Given the description of an element on the screen output the (x, y) to click on. 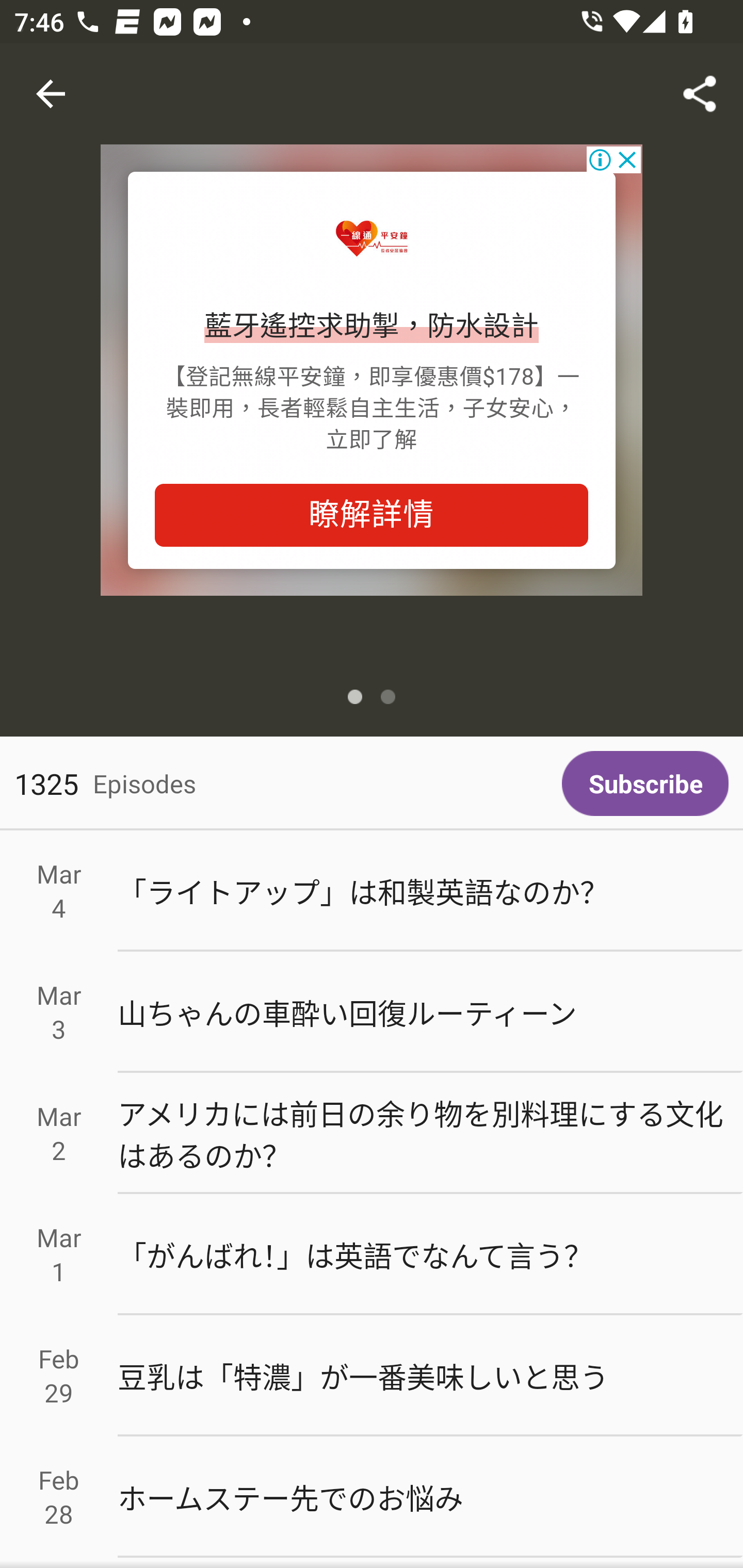
Navigate up (50, 93)
Share... (699, 93)
藍牙遙控求助掣，防水設計 (371, 327)
瞭解詳情 (371, 514)
Subscribe (644, 783)
Mar 4 「ライトアップ」は和製英語なのか？ (371, 891)
Mar 3 山ちゃんの車酔い回復ルーティーン (371, 1011)
Mar 2 アメリカには前日の余り物を別料理にする文化はあるのか？ (371, 1133)
Mar 1 「がんばれ！」は英語でなんて言う？ (371, 1254)
Feb 29 豆乳は「特濃」が一番美味しいと思う (371, 1375)
Feb 28 ホームステー先でのお悩み (371, 1496)
